Given the description of an element on the screen output the (x, y) to click on. 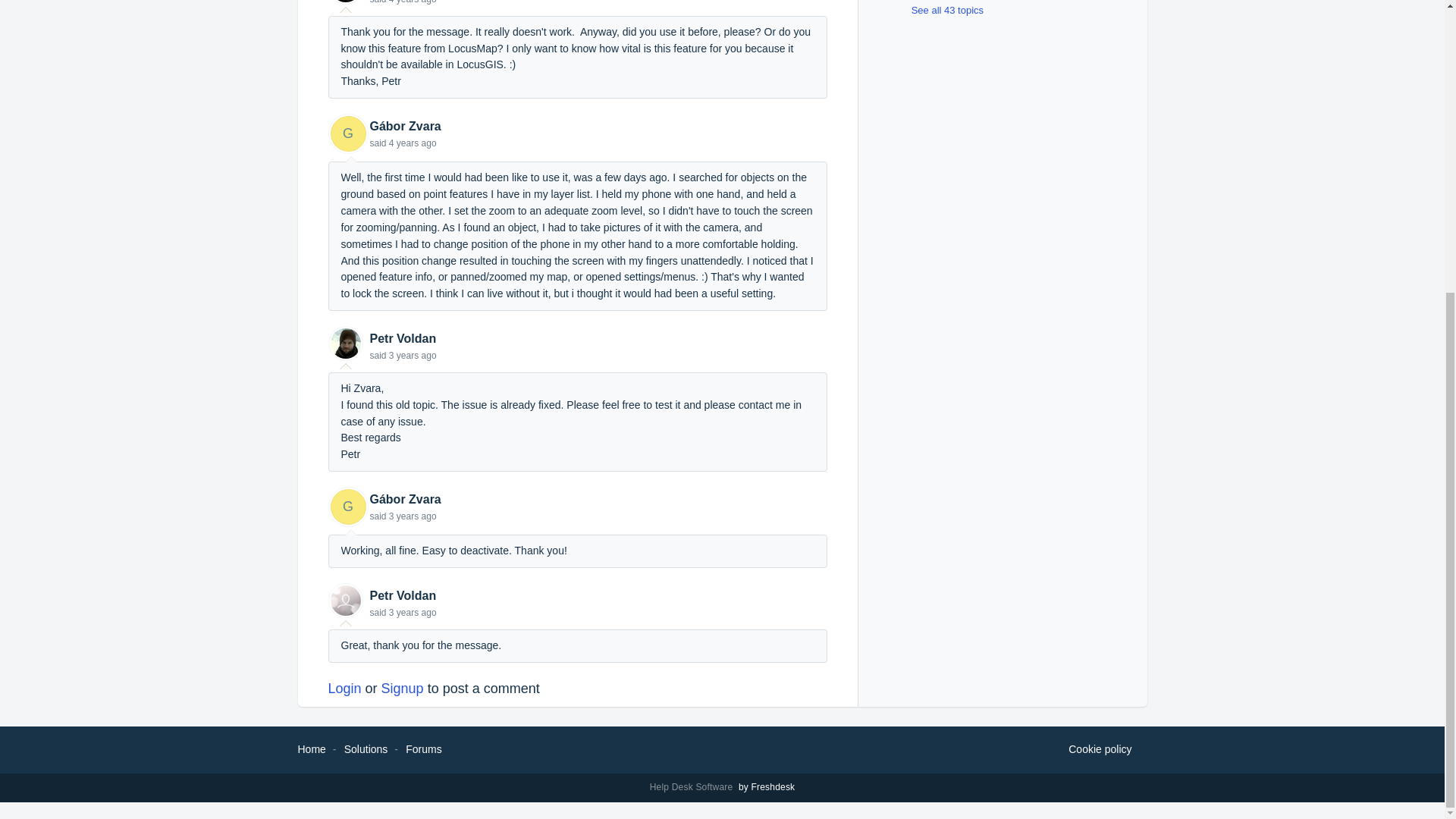
See all 43 topics (936, 9)
Wed, 2 Jun, 2021 at  9:16 PM (412, 516)
Cookie policy (1099, 750)
Thu, 3 Jun, 2021 at  1:41 PM (412, 612)
Forums (423, 748)
Login (344, 688)
Solutions (365, 748)
Signup (402, 688)
Why we love Cookies (1099, 750)
Wed, 2 Jun, 2021 at  2:38 PM (412, 355)
